Given the description of an element on the screen output the (x, y) to click on. 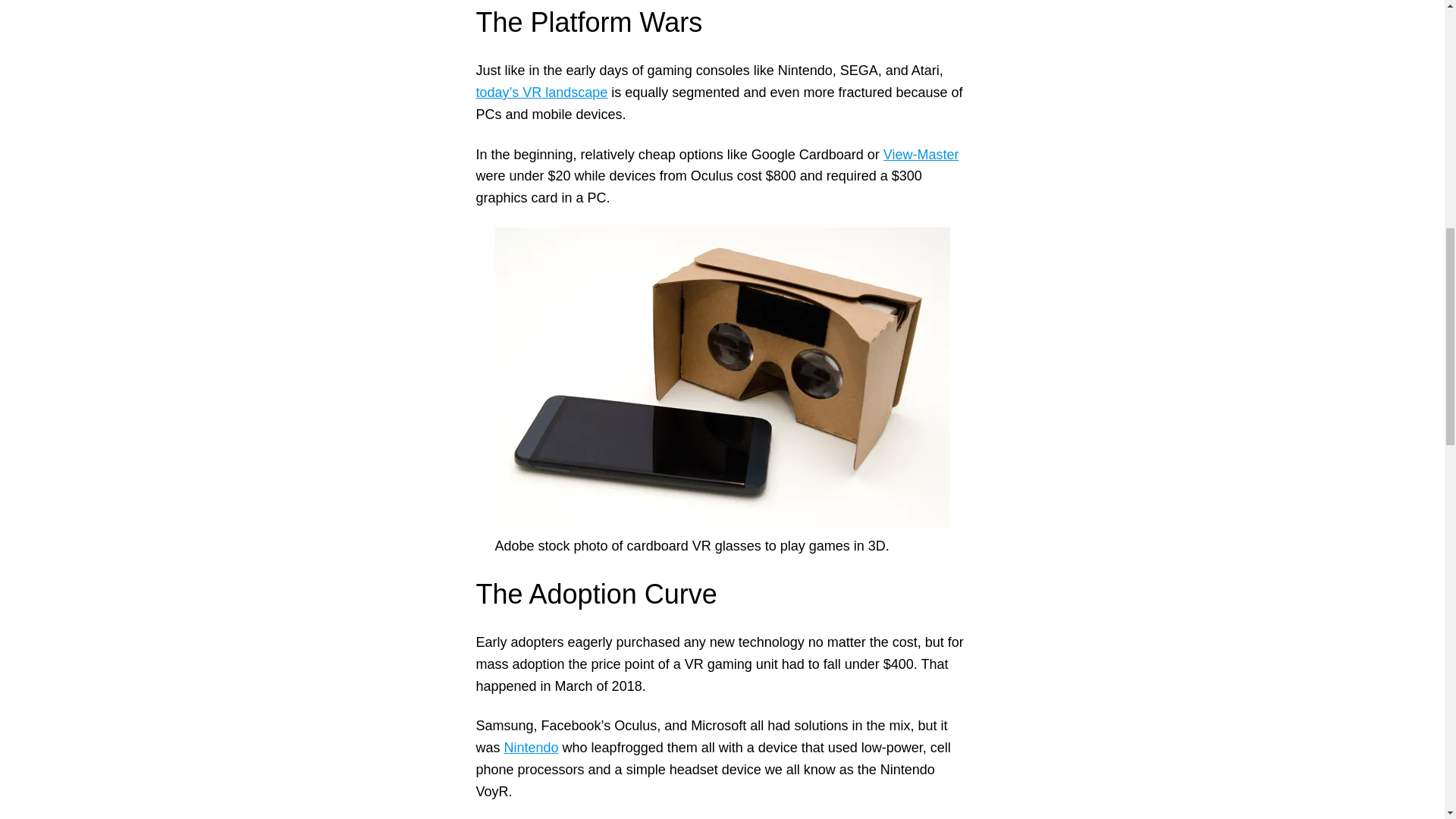
View-Master (921, 154)
Nintendo (531, 747)
